Given the description of an element on the screen output the (x, y) to click on. 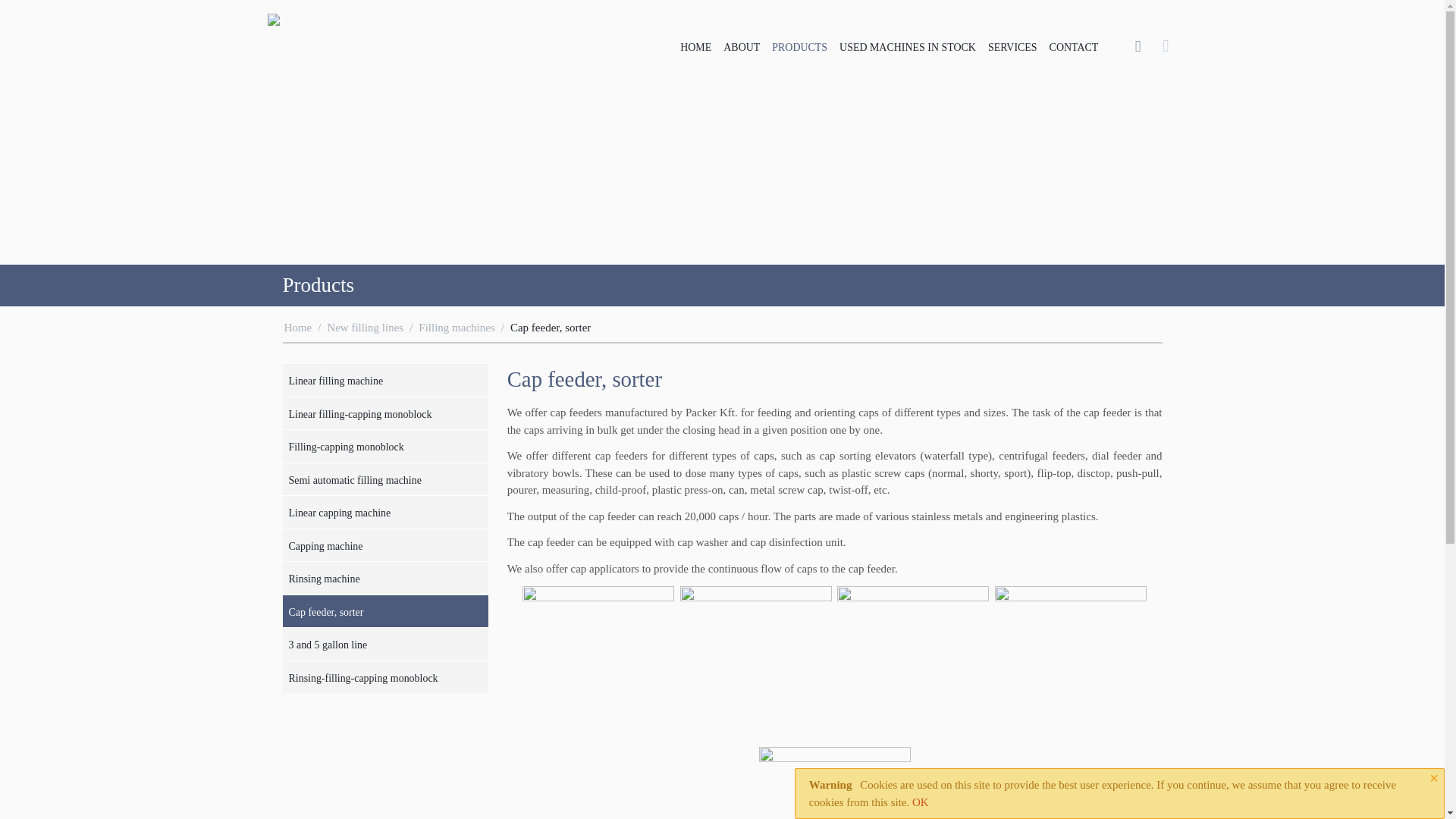
USED MACHINES IN STOCK (906, 46)
CONTACT (1074, 46)
PRODUCTS (798, 46)
SERVICES (1012, 46)
OK (920, 802)
ABOUT (741, 46)
HOME (695, 46)
